Given the description of an element on the screen output the (x, y) to click on. 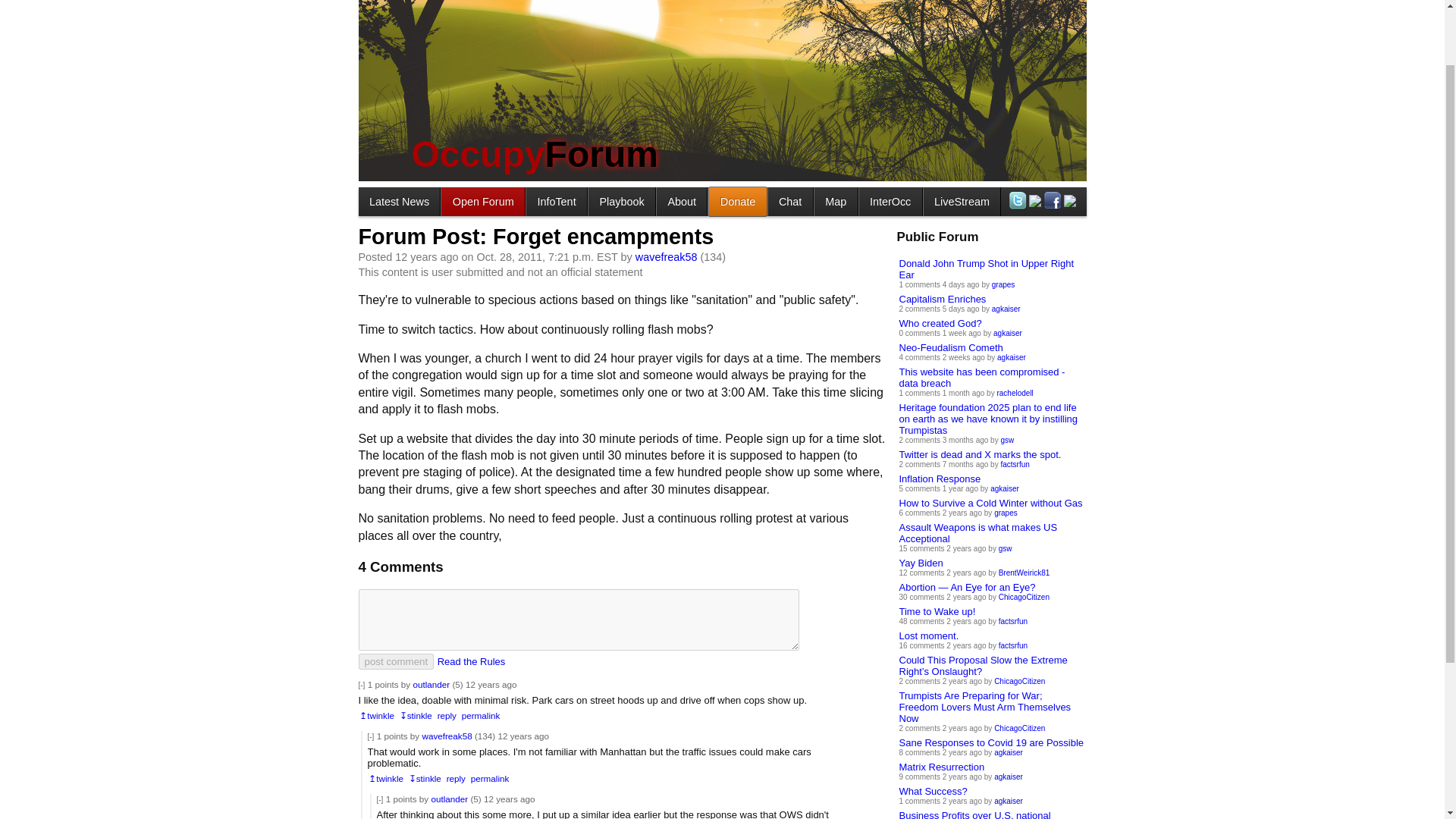
News Articles (398, 201)
Open Forum (482, 201)
Playbook (621, 201)
The End of Protest (621, 201)
Online Guide to the Occupy movement (555, 201)
About (681, 201)
Latest News (398, 201)
InfoTent (555, 201)
About Us (681, 201)
Public discussion board (482, 201)
OccupyForum (534, 154)
